Given the description of an element on the screen output the (x, y) to click on. 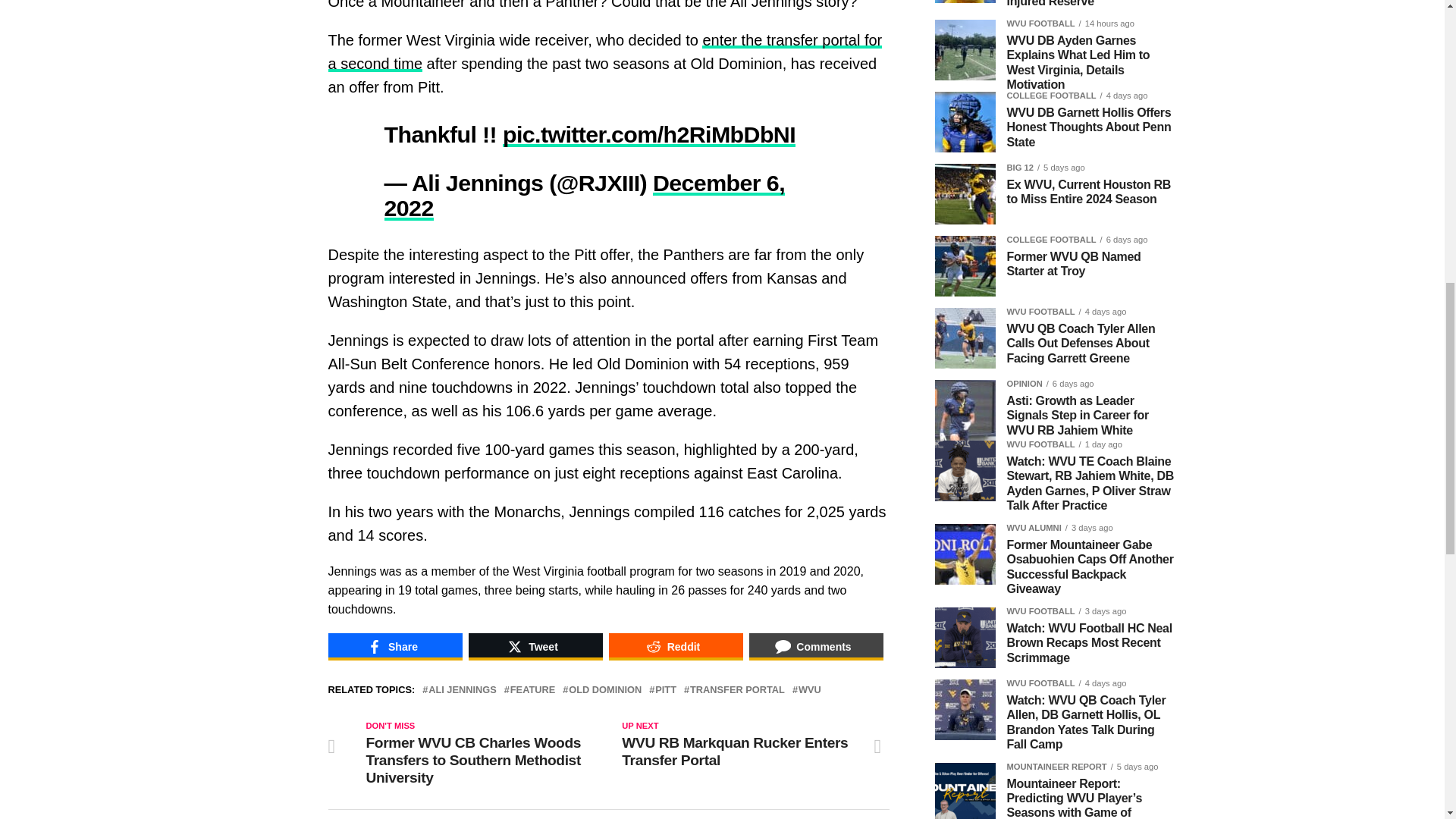
Share on Tweet (535, 646)
Share on Share (394, 646)
Share on Reddit (675, 646)
Share on Comments (816, 646)
